Given the description of an element on the screen output the (x, y) to click on. 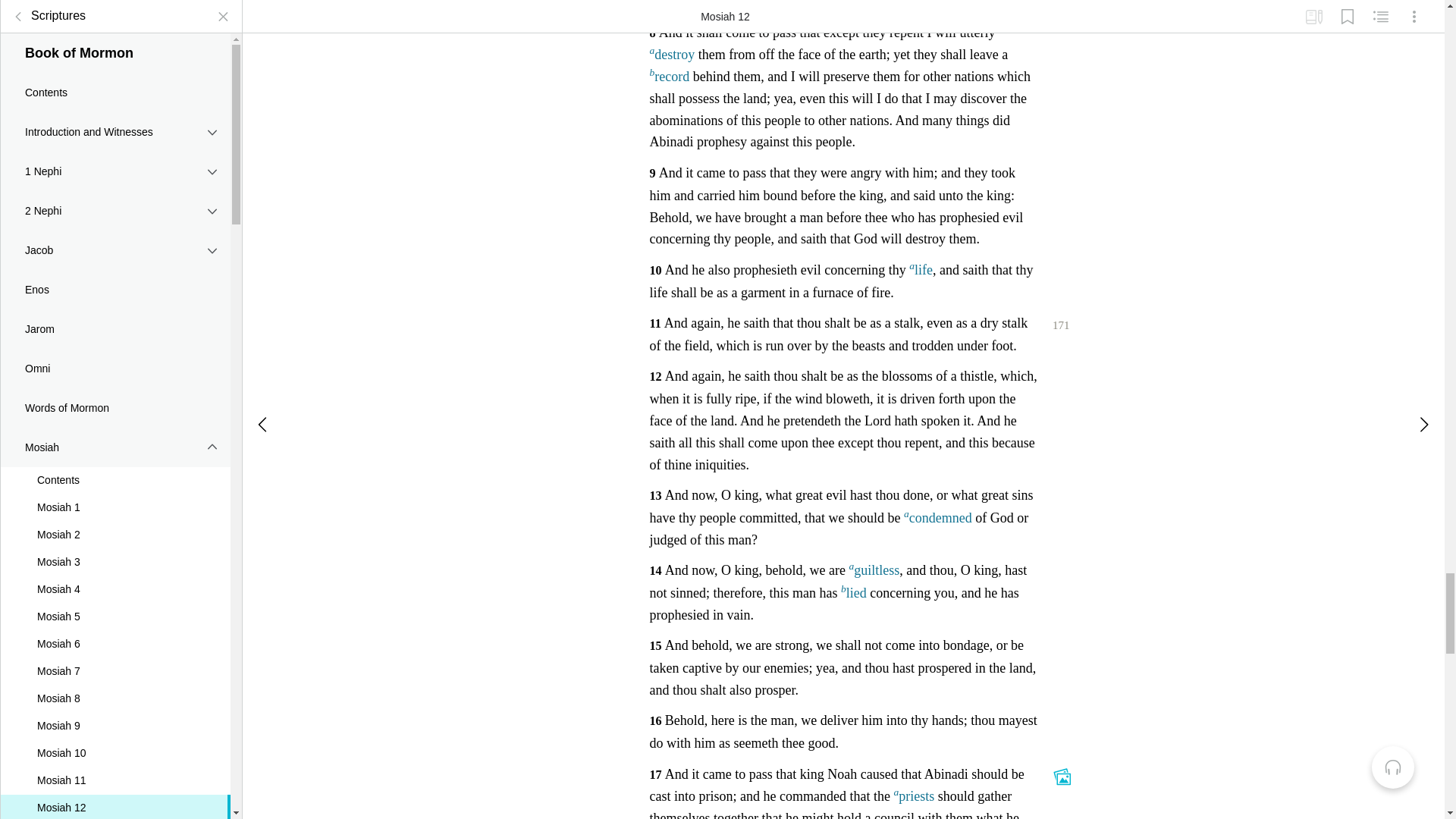
Mosiah 27 (115, 387)
Mosiah 15 (115, 59)
Mosiah 28 (115, 414)
Mosiah 19 (115, 168)
Mosiah 14 (115, 31)
Mosiah 25 (115, 332)
Mosiah 16 (115, 86)
Mosiah 18 (115, 141)
Mosiah 23 (115, 277)
Mosiah 22 (115, 250)
Mosiah 13 (115, 9)
Mosiah 17 (115, 113)
Mosiah 24 (115, 305)
Mosiah 21 (115, 223)
Mosiah 20 (115, 195)
